Given the description of an element on the screen output the (x, y) to click on. 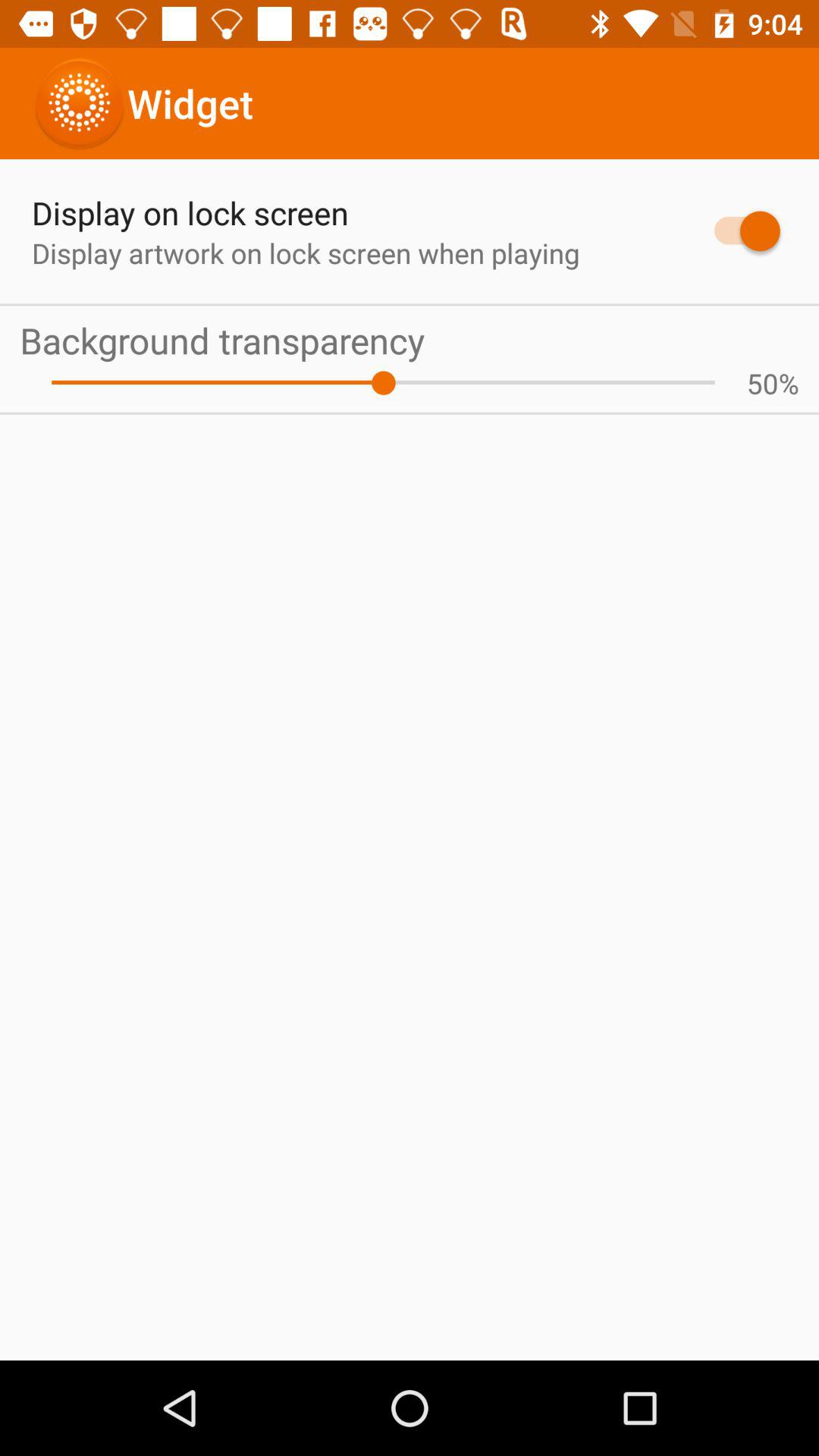
jump to the 50 icon (762, 383)
